Given the description of an element on the screen output the (x, y) to click on. 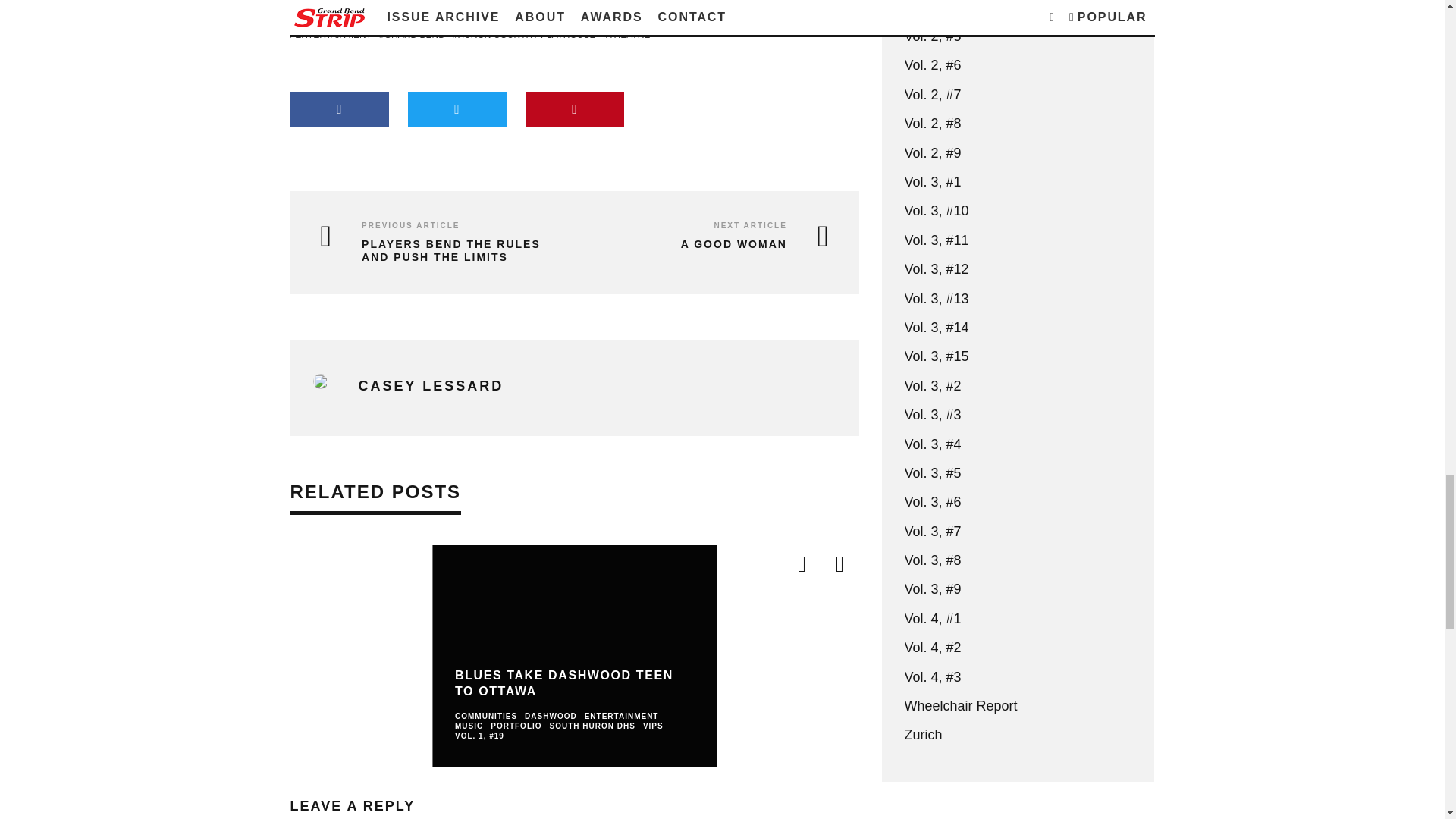
CASEY LESSARD (430, 385)
HURON COUNTRY PLAYHOUSE (523, 35)
PREVIOUS ARTICLE (410, 225)
GRAND BEND (411, 35)
THEATRE (627, 35)
PLAYERS BEND THE RULES AND PUSH THE LIMITS (435, 250)
ENTERTAINMENT (330, 35)
A GOOD WOMAN (705, 244)
BLUES TAKE DASHWOOD TEEN TO OTTAWA (563, 683)
NEXT ARTICLE (749, 225)
